Given the description of an element on the screen output the (x, y) to click on. 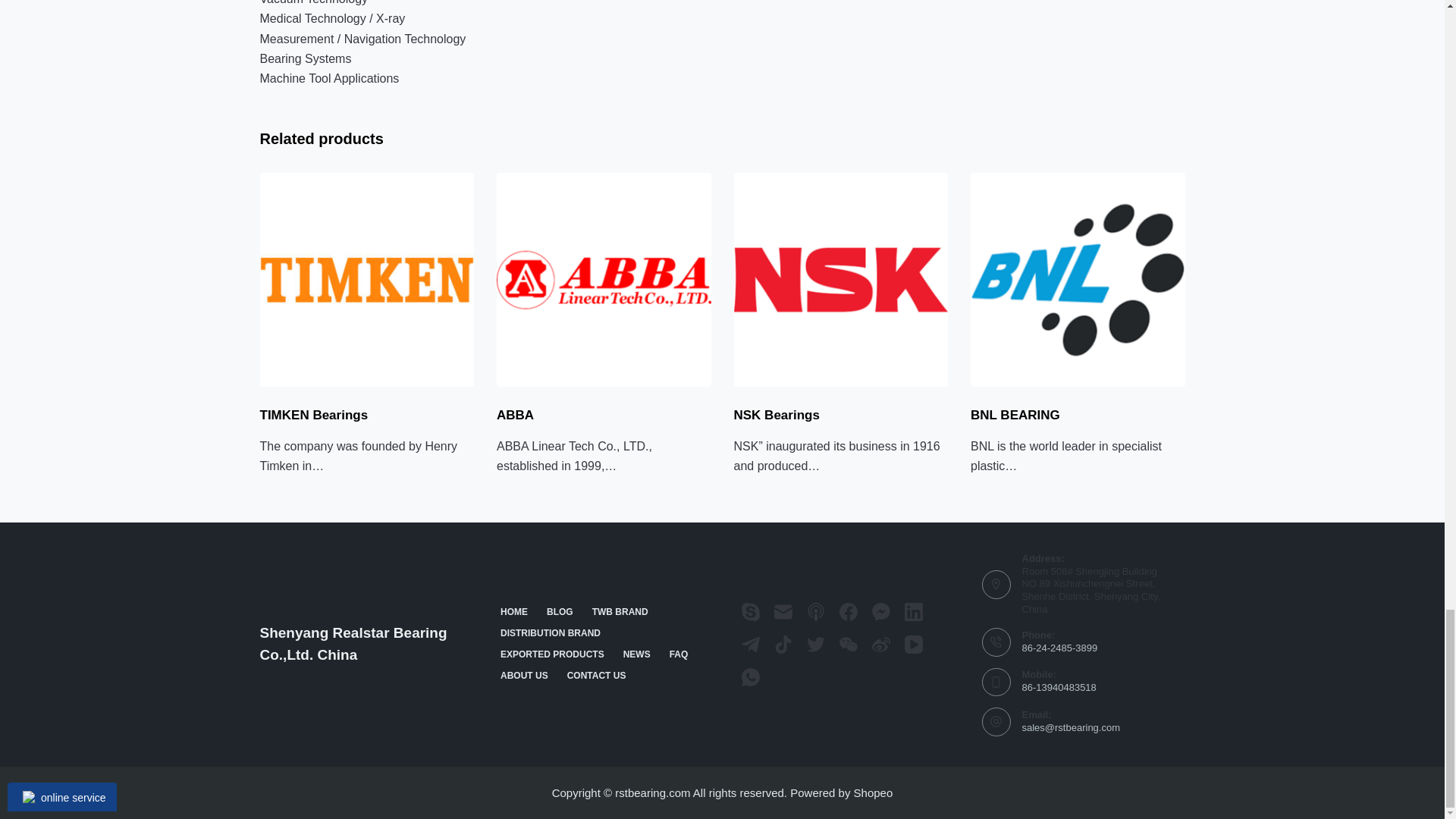
TIMKEN (366, 279)
NSK (841, 279)
BNL BEARING (1078, 279)
ABBA (603, 279)
